Given the description of an element on the screen output the (x, y) to click on. 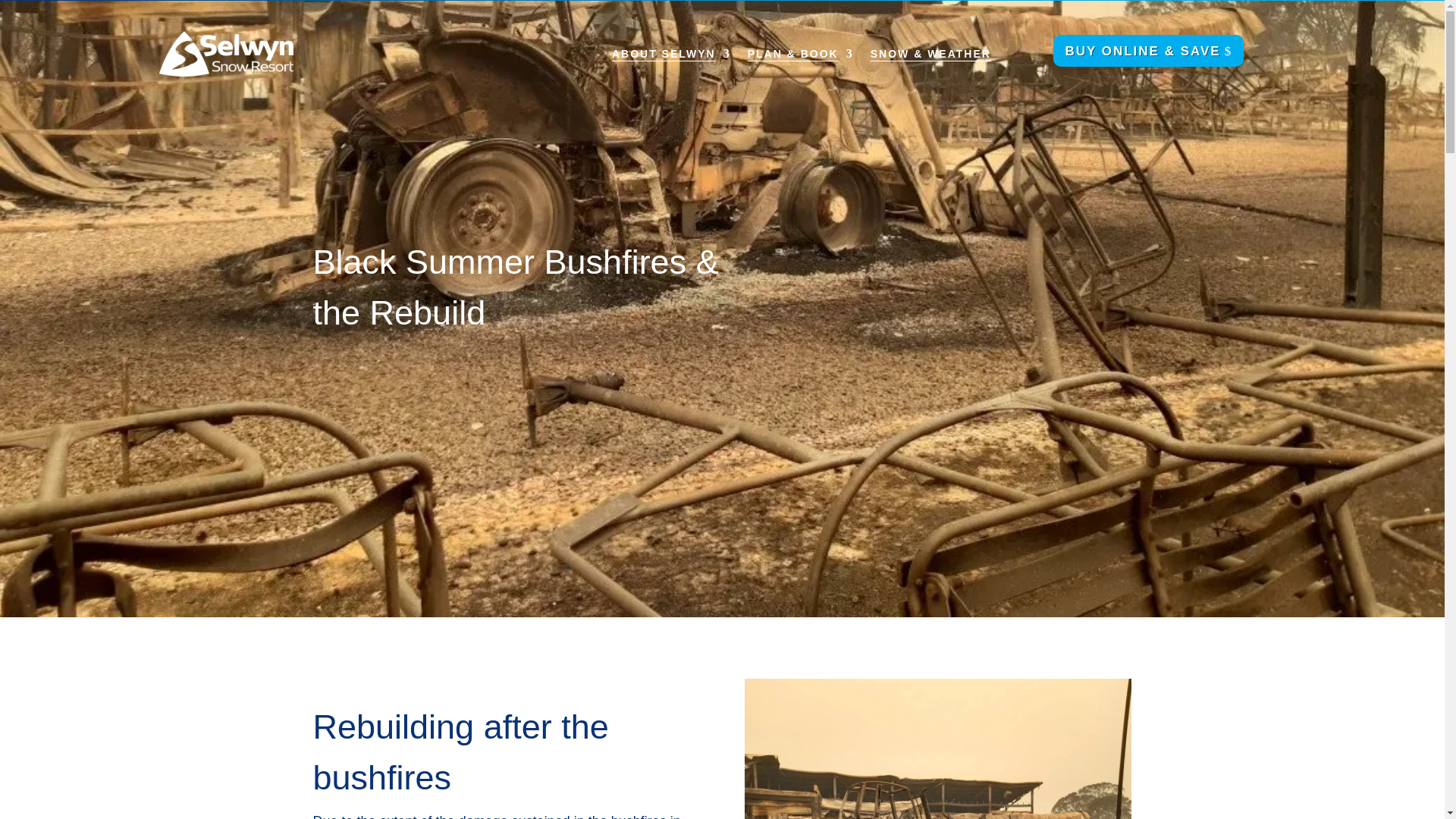
ABOUT SELWYN (670, 53)
Selwyn Centre, New Chum Chairs and Machinery (937, 748)
